Given the description of an element on the screen output the (x, y) to click on. 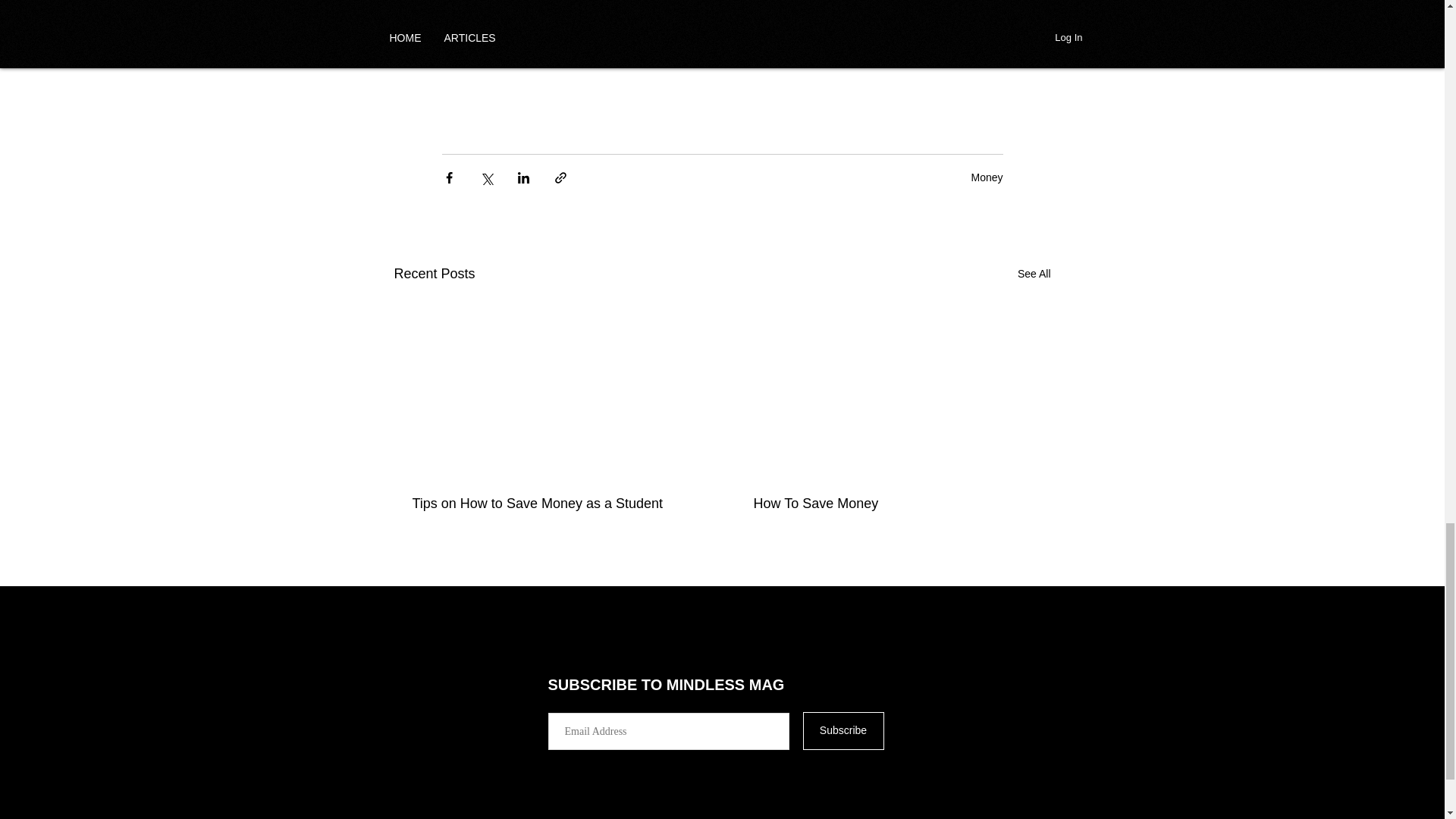
See All (1034, 273)
How To Save Money (893, 503)
Subscribe (842, 730)
Money (987, 177)
Tips on How to Save Money as a Student (551, 503)
